Given the description of an element on the screen output the (x, y) to click on. 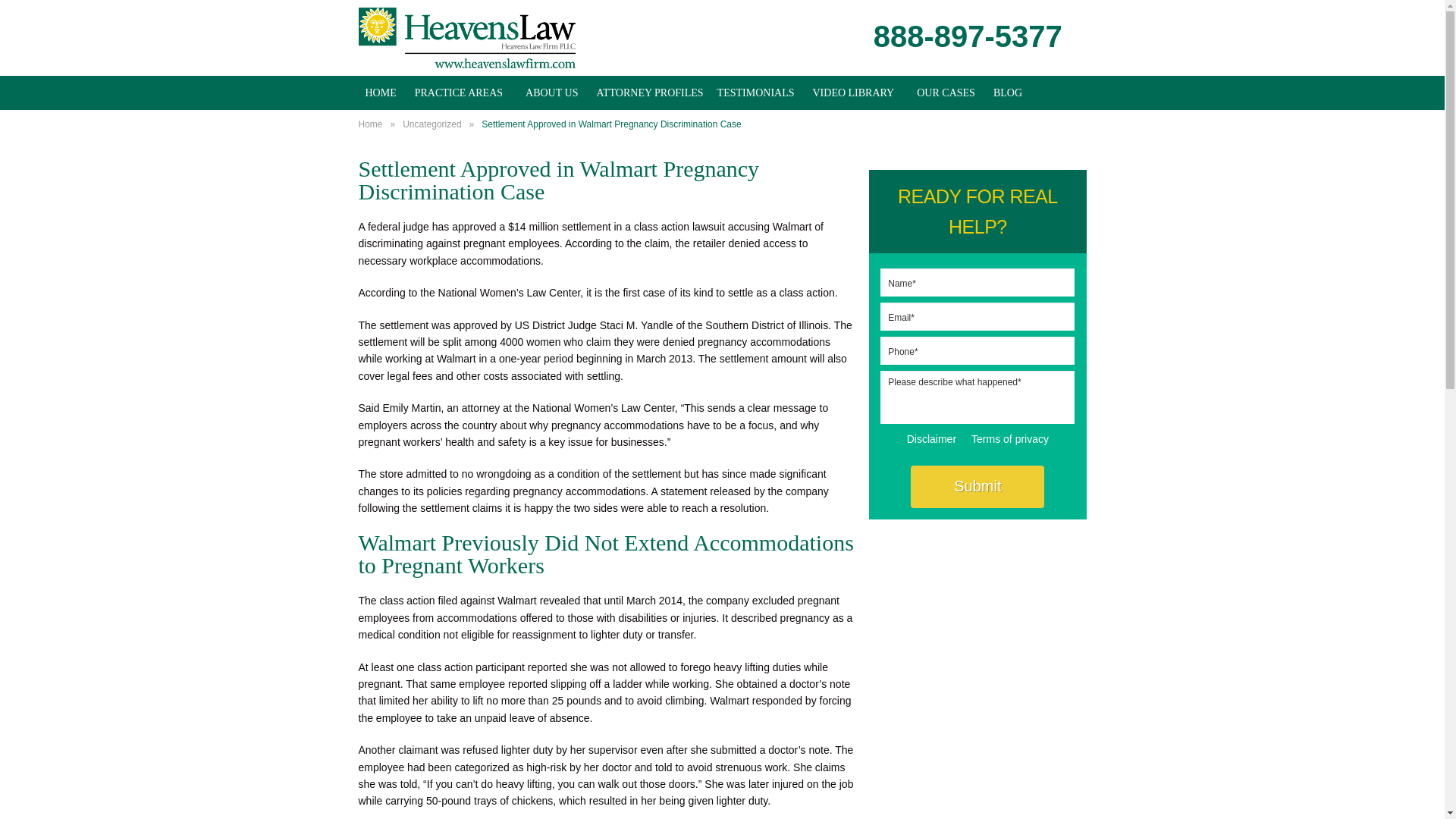
HOME (380, 92)
VIDEO LIBRARY (852, 92)
Coal Mine Accidents (458, 240)
Chris Heavens AV Rating Press Release (551, 172)
Go to the Uncategorized category archives. (432, 123)
ATTORNEY PROFILES (649, 92)
PRACTICE AREAS (458, 92)
Industrial Accidents (946, 240)
Work injury (458, 581)
Work Injuries (946, 138)
TESTIMONIALS (756, 92)
Dangerous Drugs (458, 274)
Brain Injury (458, 206)
Nursing Home Abuse WV (458, 342)
West Virginia Employment Law (458, 513)
